Given the description of an element on the screen output the (x, y) to click on. 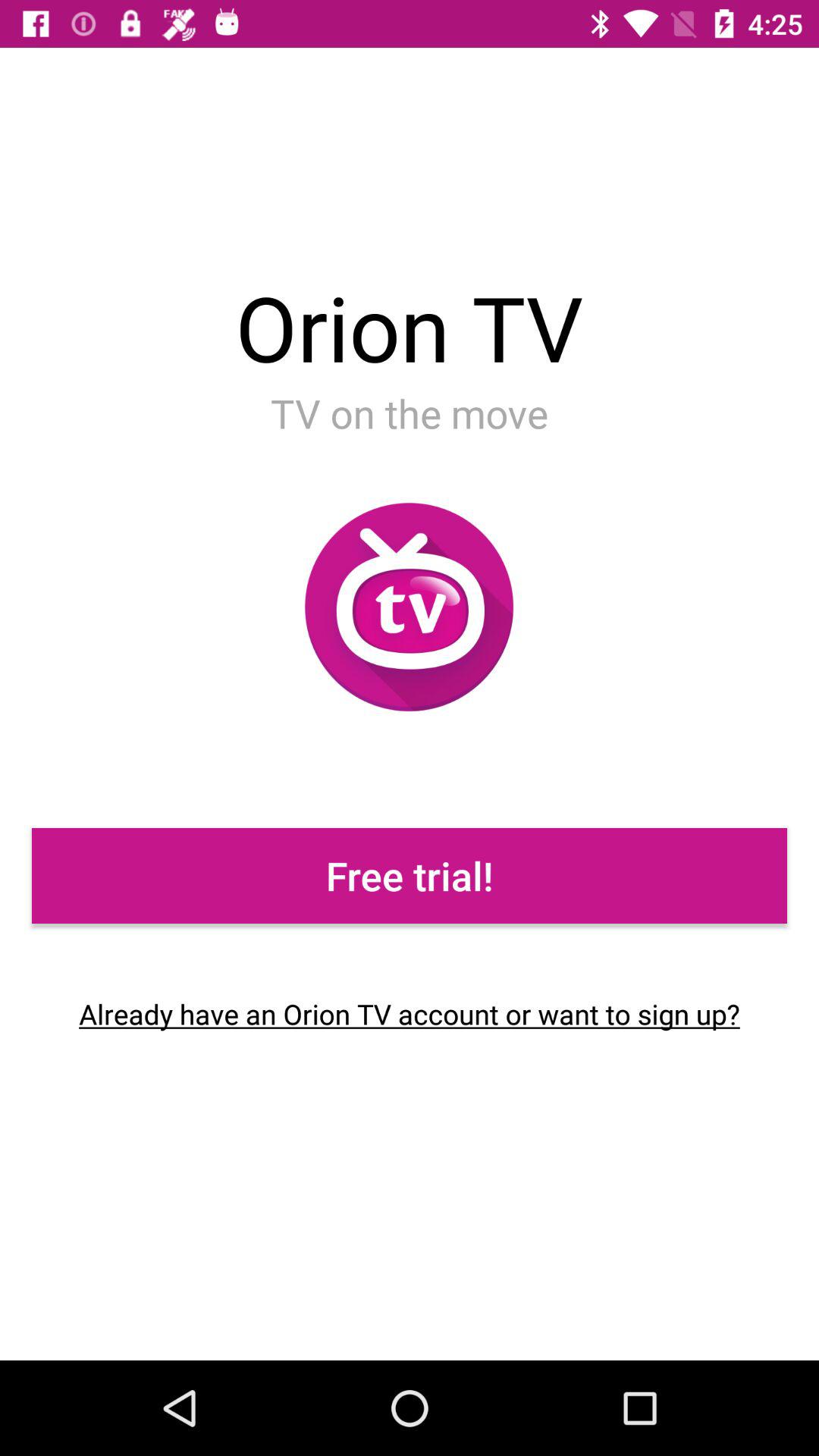
click the free trial! (409, 875)
